Given the description of an element on the screen output the (x, y) to click on. 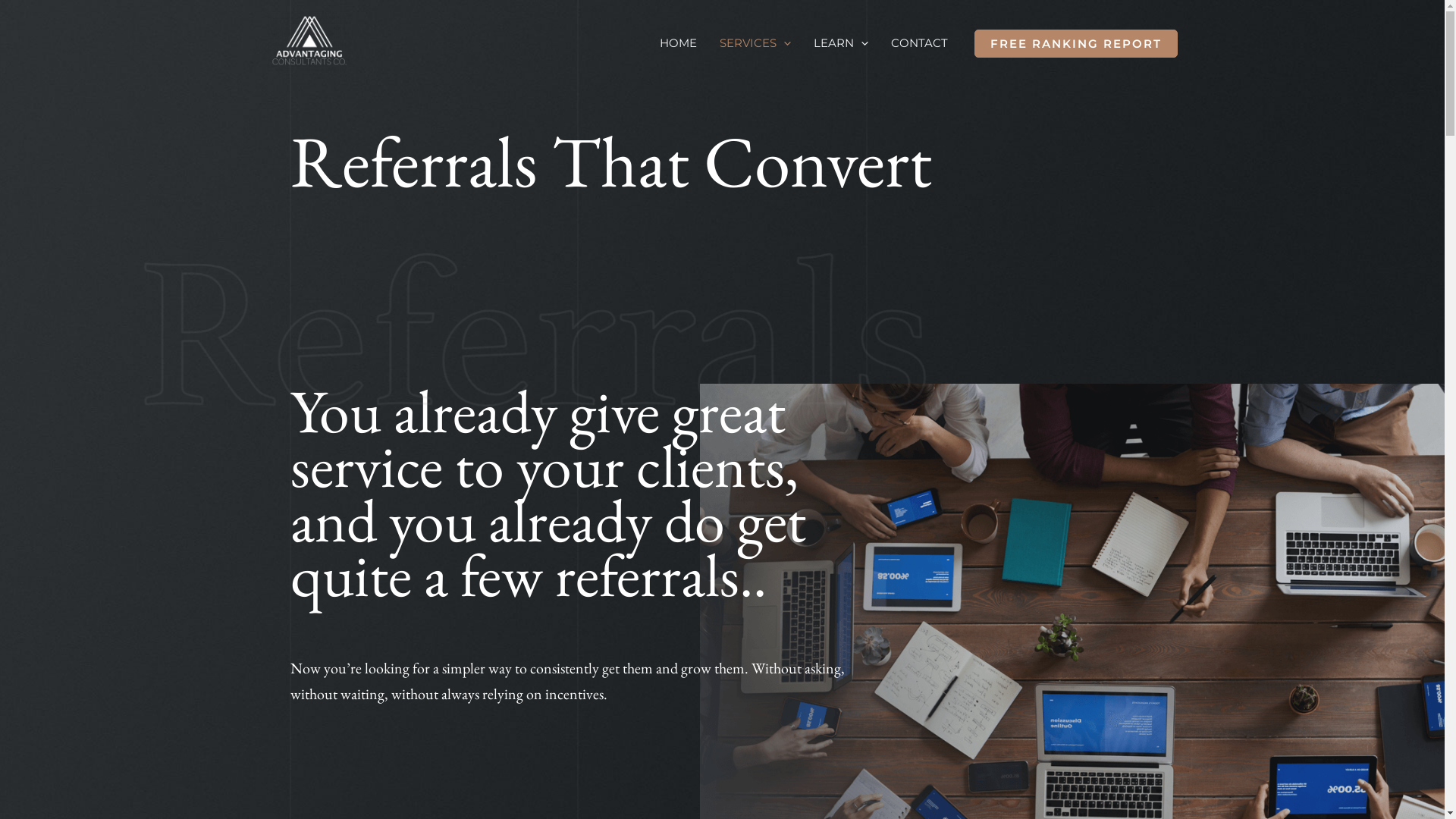
LEARN Element type: text (840, 42)
SERVICES Element type: text (755, 42)
CONTACT Element type: text (919, 42)
FREE RANKING REPORT Element type: text (1074, 43)
HOME Element type: text (677, 42)
